Given the description of an element on the screen output the (x, y) to click on. 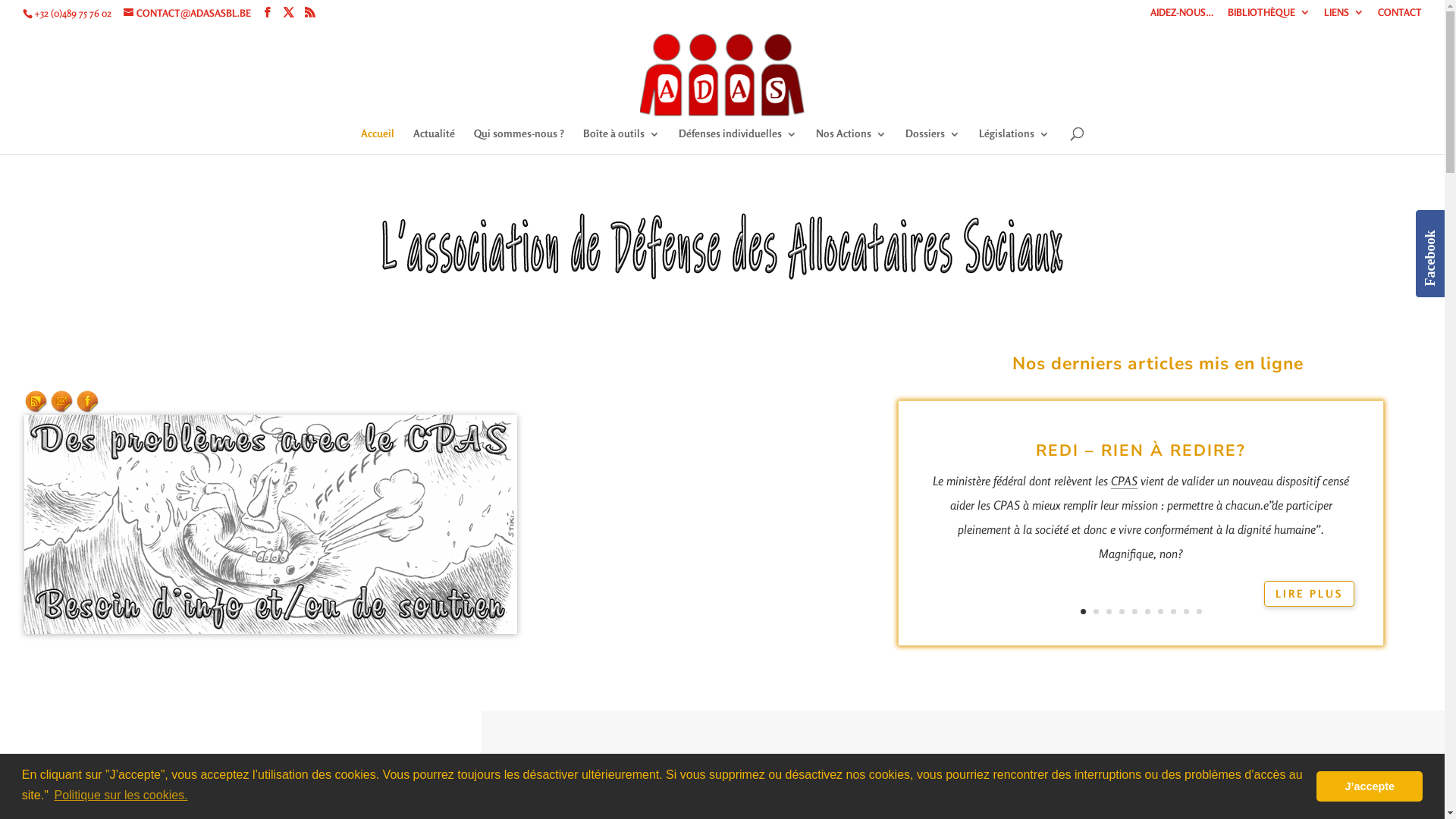
4 Element type: text (1121, 611)
6 Element type: text (1147, 611)
Politique sur les cookies. Element type: text (120, 795)
3 Element type: text (1108, 611)
Acceuille Element type: hover (270, 523)
Dossiers Element type: text (932, 140)
8 Element type: text (1173, 611)
Qui sommes-nous ? Element type: text (518, 140)
Accueil Element type: text (377, 140)
CONTACT@ADASASBL.BE Element type: text (187, 12)
2 Element type: text (1095, 611)
LIRE PLUS Element type: text (1309, 593)
9 Element type: text (1186, 611)
l'aDAS Element type: hover (722, 246)
LIENS Element type: text (1344, 16)
1 Element type: text (1082, 611)
5 Element type: text (1134, 611)
Facebook Element type: hover (87, 401)
Rechercher Element type: text (396, 790)
7 Element type: text (1160, 611)
CONTACT Element type: text (1399, 16)
10 Element type: text (1198, 611)
Nos Actions Element type: text (850, 140)
RSS Element type: hover (36, 401)
Follow by Email Element type: hover (61, 401)
